Given the description of an element on the screen output the (x, y) to click on. 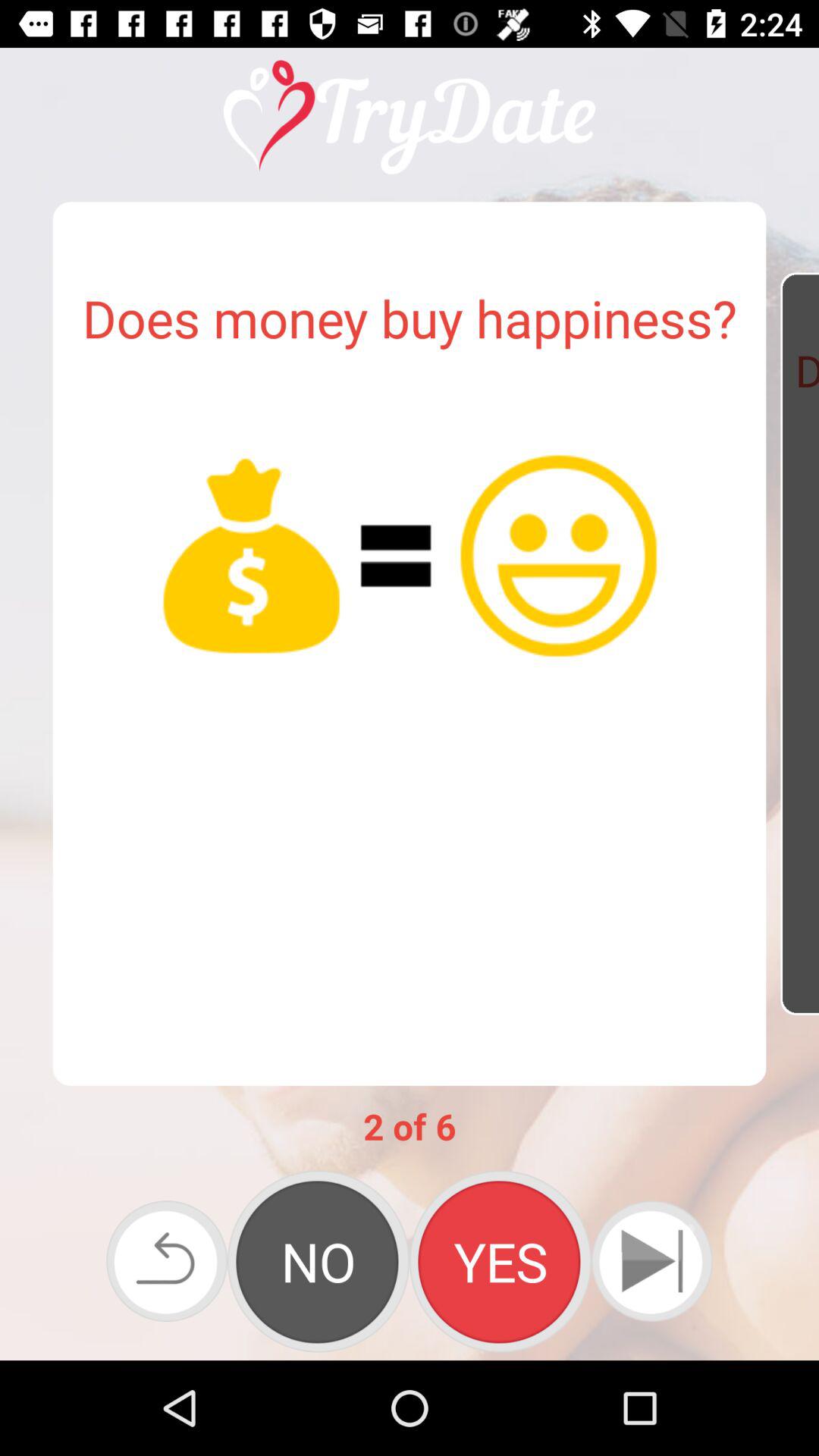
previous page (166, 1260)
